Given the description of an element on the screen output the (x, y) to click on. 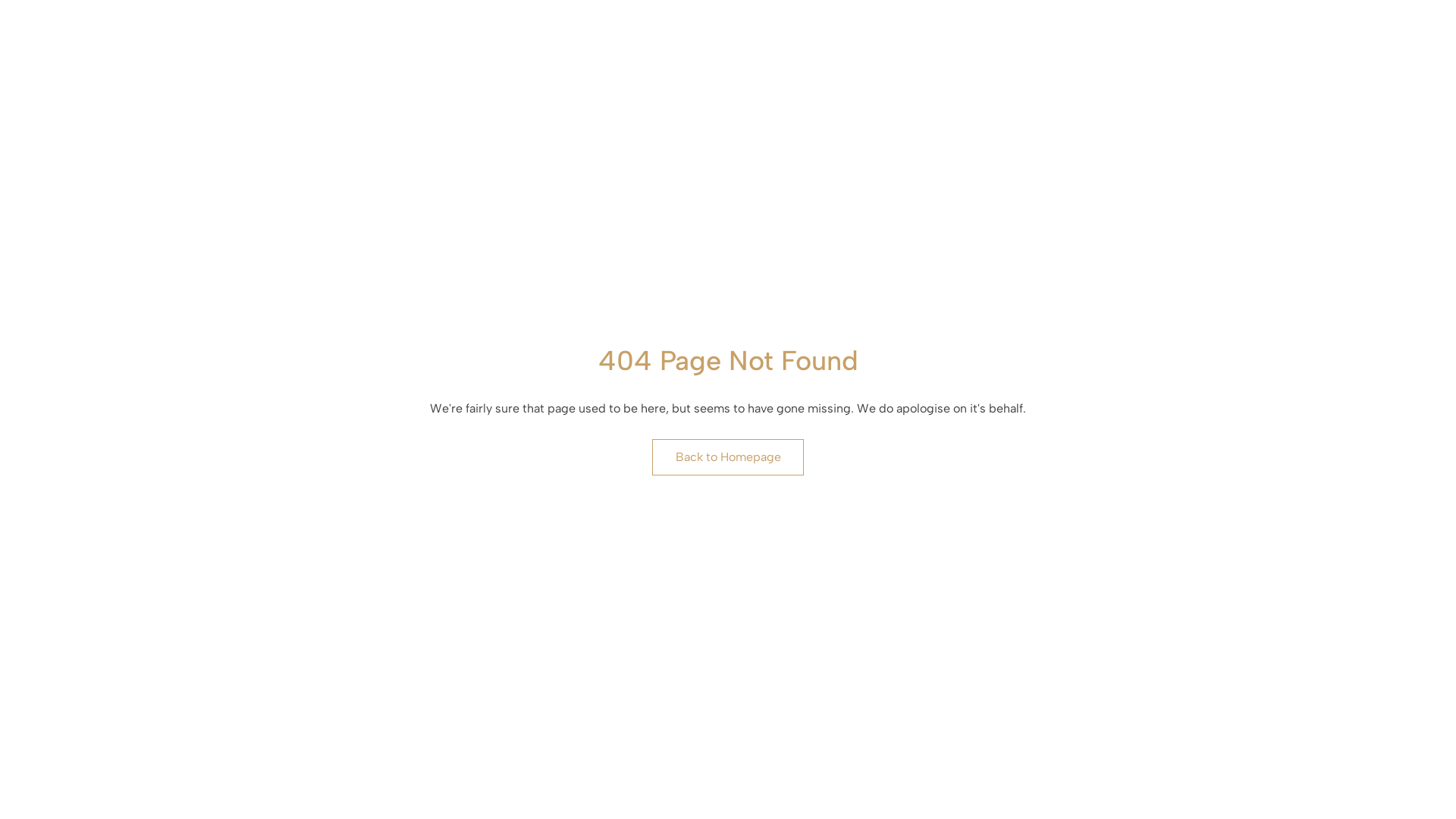
Back to Homepage Element type: text (727, 457)
